Given the description of an element on the screen output the (x, y) to click on. 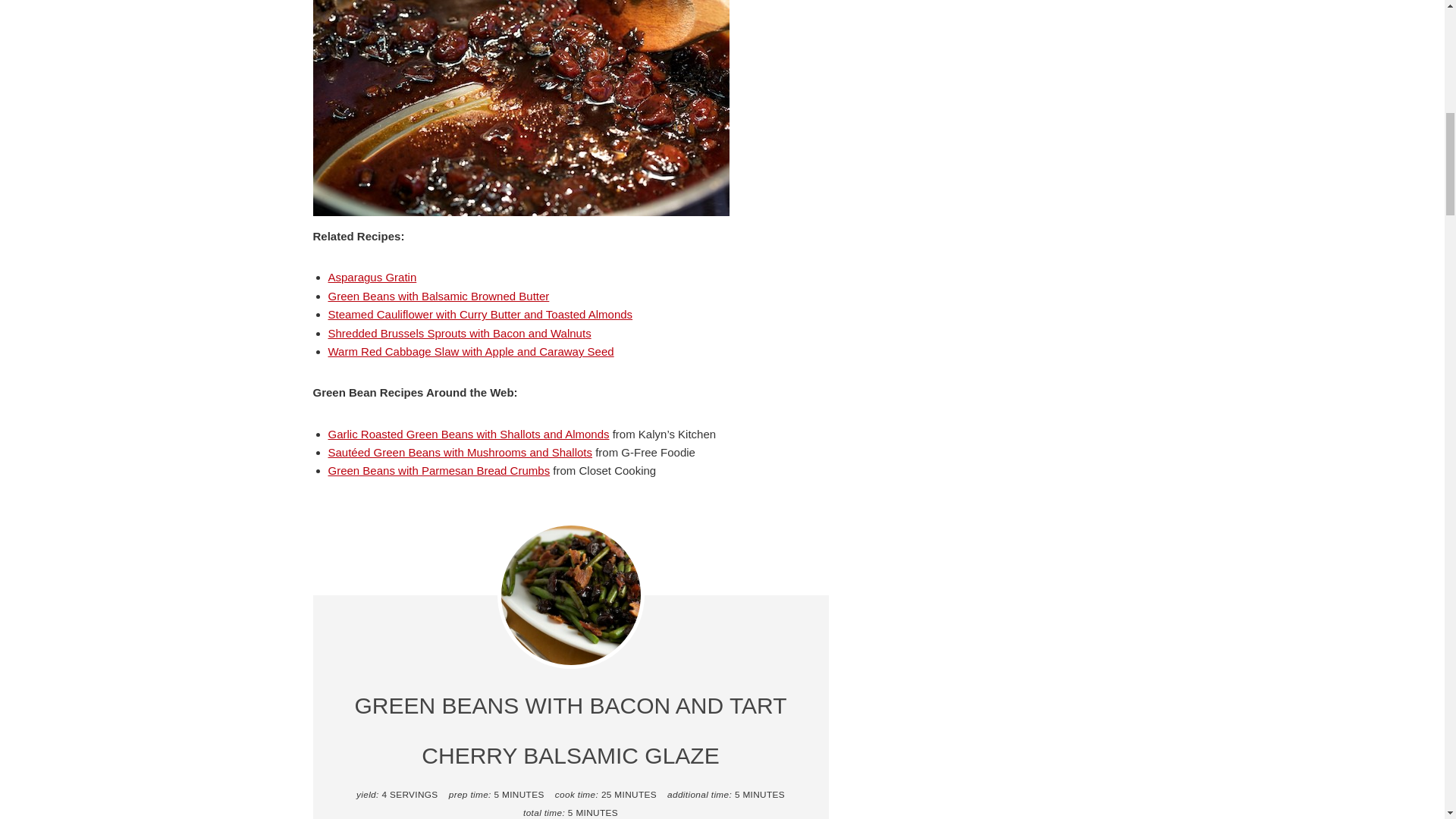
Green Beans with Parmesan Bread Crumbs (438, 470)
Warm Red Cabbage Slaw with Apple and Caraway Seed (469, 350)
Green Beans with Balsamic Browned Butter (437, 295)
Garlic Roasted Green Beans with Shallots and Almonds (467, 433)
Steamed Cauliflower with Curry Butter and Toasted Almonds (479, 314)
Asparagus Gratin (371, 277)
Tart Cherry Balsamic Glaze (521, 108)
Shredded Brussels Sprouts with Bacon and Walnuts (459, 332)
